Given the description of an element on the screen output the (x, y) to click on. 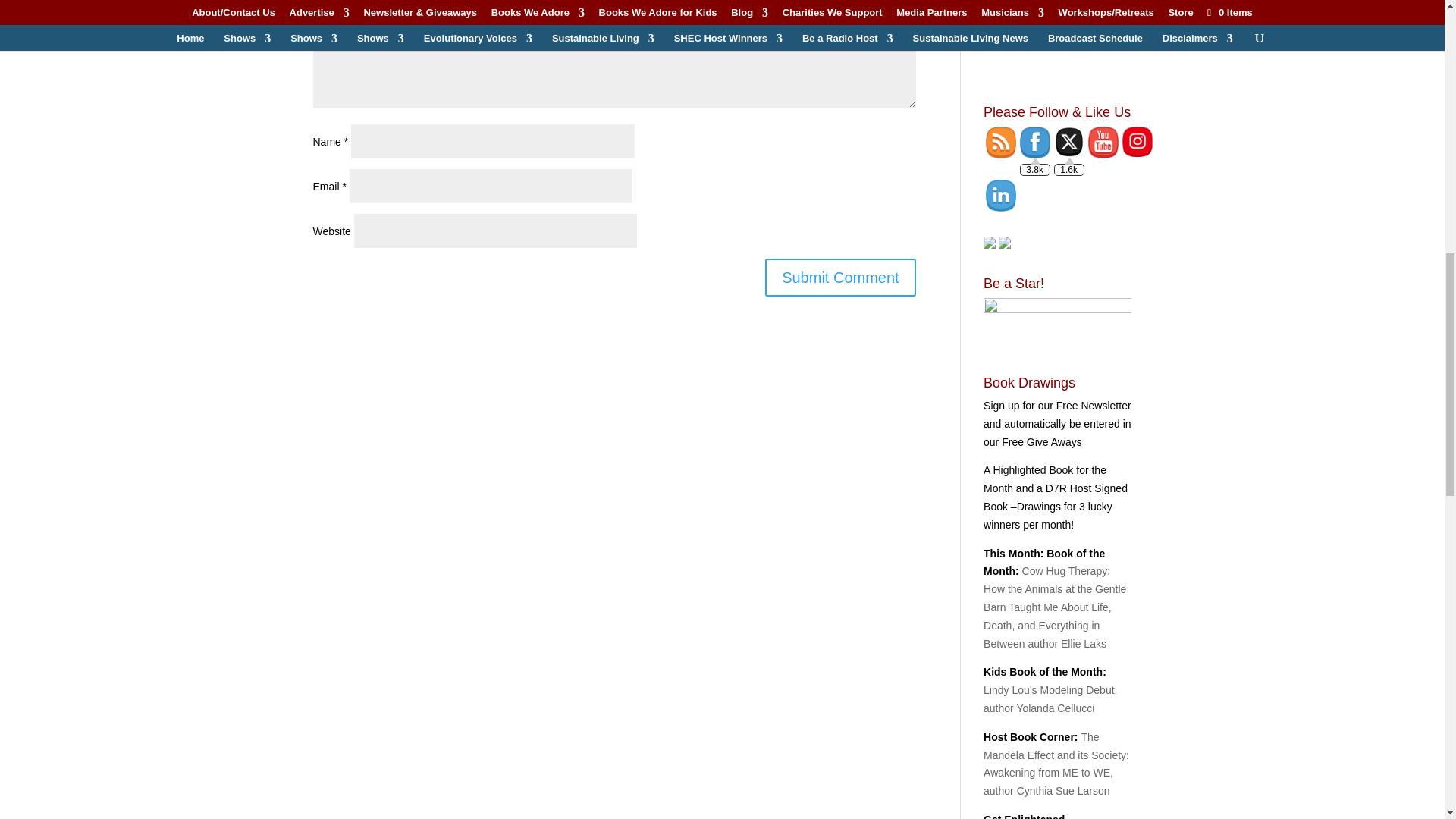
Twitter (1069, 141)
RSS (1000, 142)
Facebook (1034, 142)
Youtube (1102, 142)
Submit Comment (840, 277)
